Given the description of an element on the screen output the (x, y) to click on. 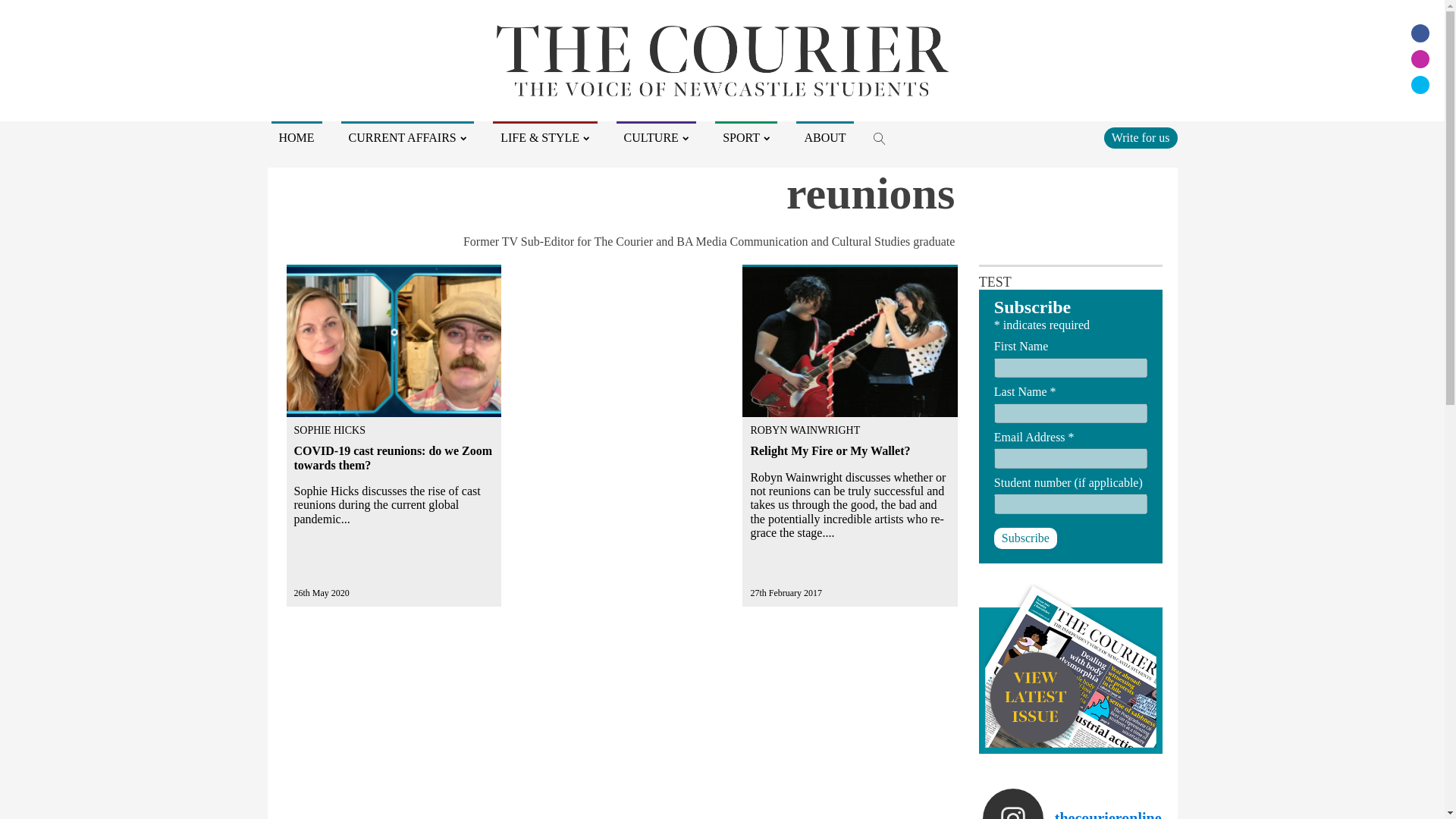
Subscribe (1025, 537)
HOME (295, 137)
Search (25, 9)
Write for us (1140, 137)
CURRENT AFFAIRS (407, 137)
ABOUT (824, 137)
CULTURE (656, 137)
SPORT (745, 137)
